Given the description of an element on the screen output the (x, y) to click on. 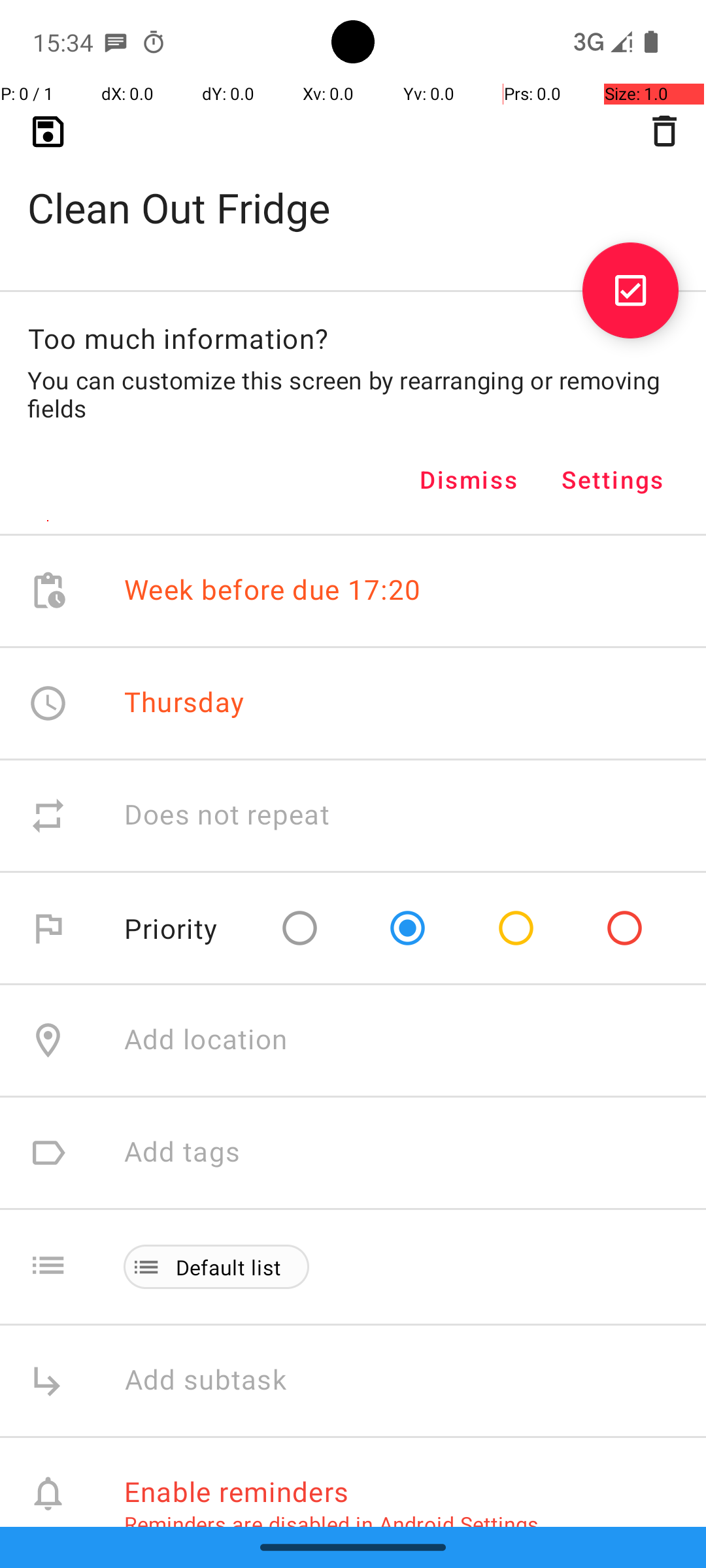
Week before due 17:20 Element type: android.widget.TextView (272, 590)
